Given the description of an element on the screen output the (x, y) to click on. 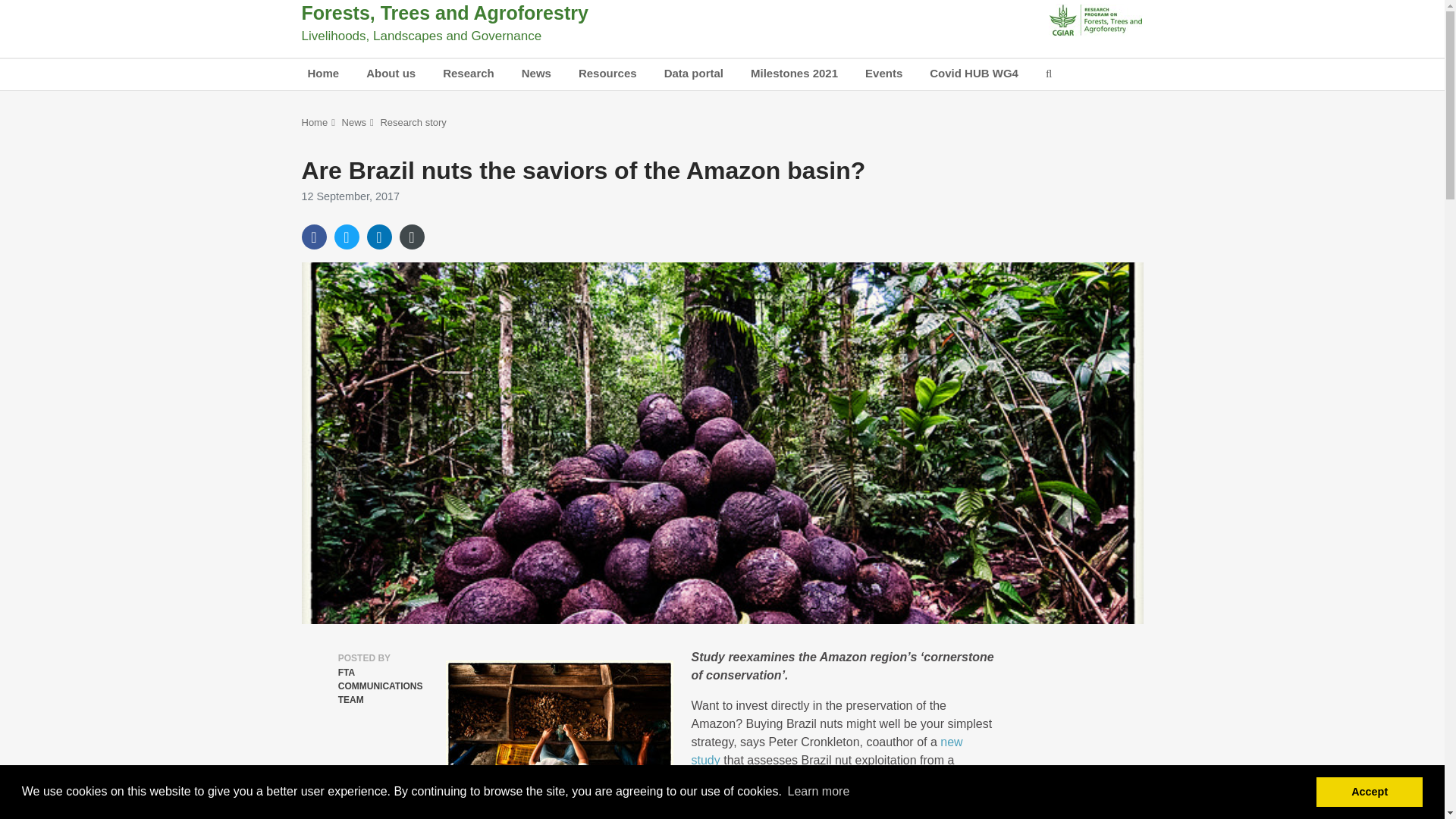
Home (323, 74)
Resources (607, 74)
Research (468, 74)
About us (390, 74)
Accept (1369, 791)
News (536, 74)
Milestones 2021 (794, 74)
Learn more (817, 791)
Data portal (693, 74)
